Given the description of an element on the screen output the (x, y) to click on. 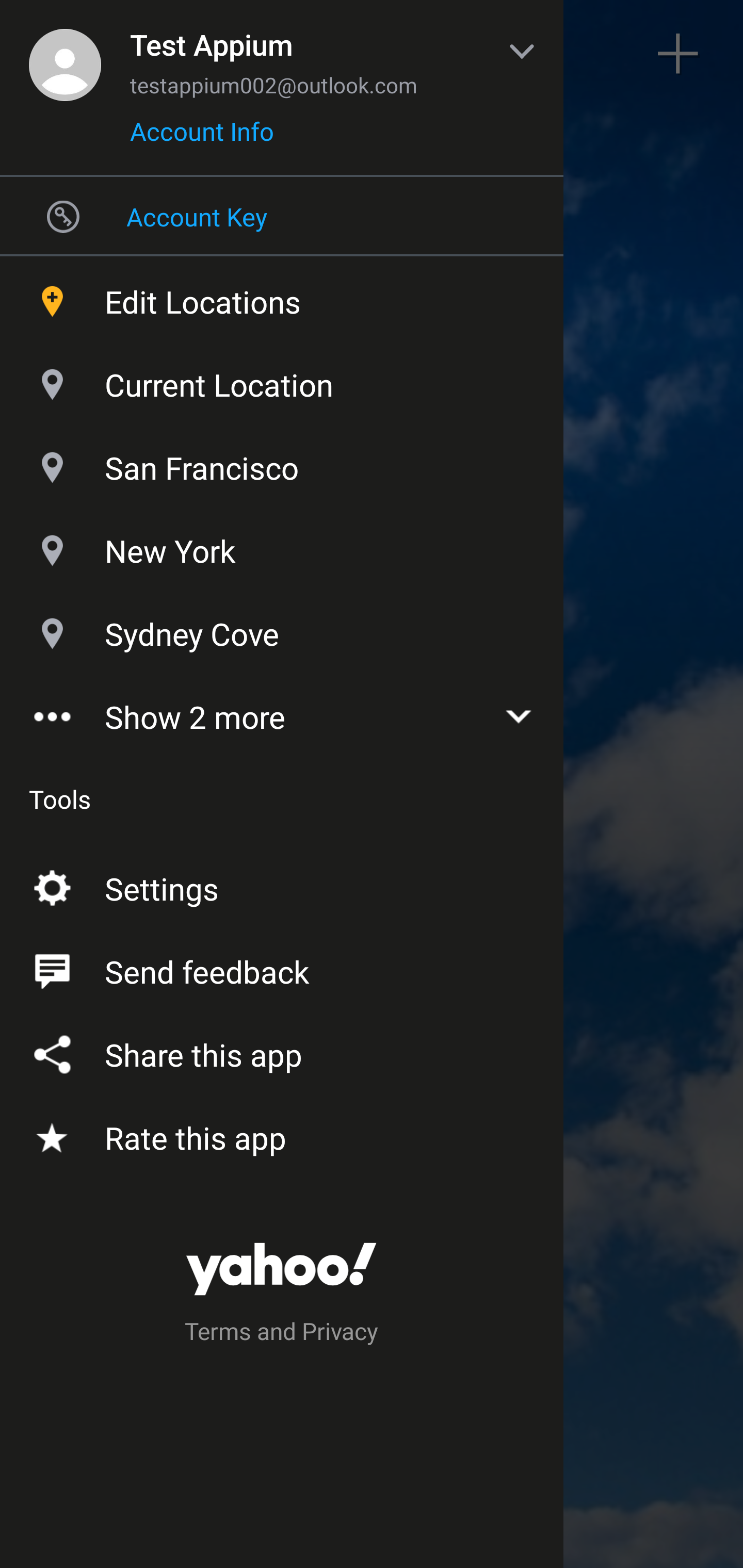
Sidebar (64, 54)
Account Info (202, 137)
Account Key (281, 216)
Edit Locations (281, 296)
Current Location (281, 379)
San Francisco (281, 462)
New York (281, 546)
Sydney Cove (281, 629)
Settings (281, 884)
Send feedback (281, 967)
Share this app (281, 1050)
Terms and Privacy Terms and privacy button (281, 1334)
